Given the description of an element on the screen output the (x, y) to click on. 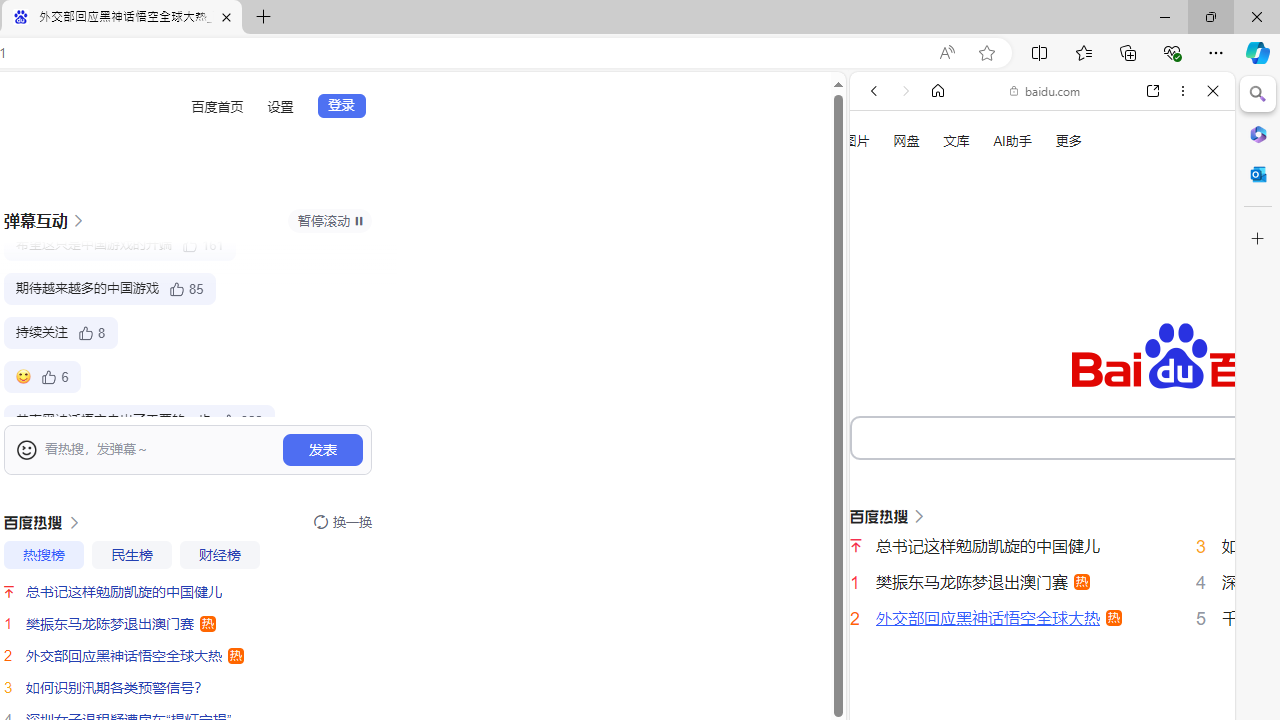
Learn more (943, 272)
